Given the description of an element on the screen output the (x, y) to click on. 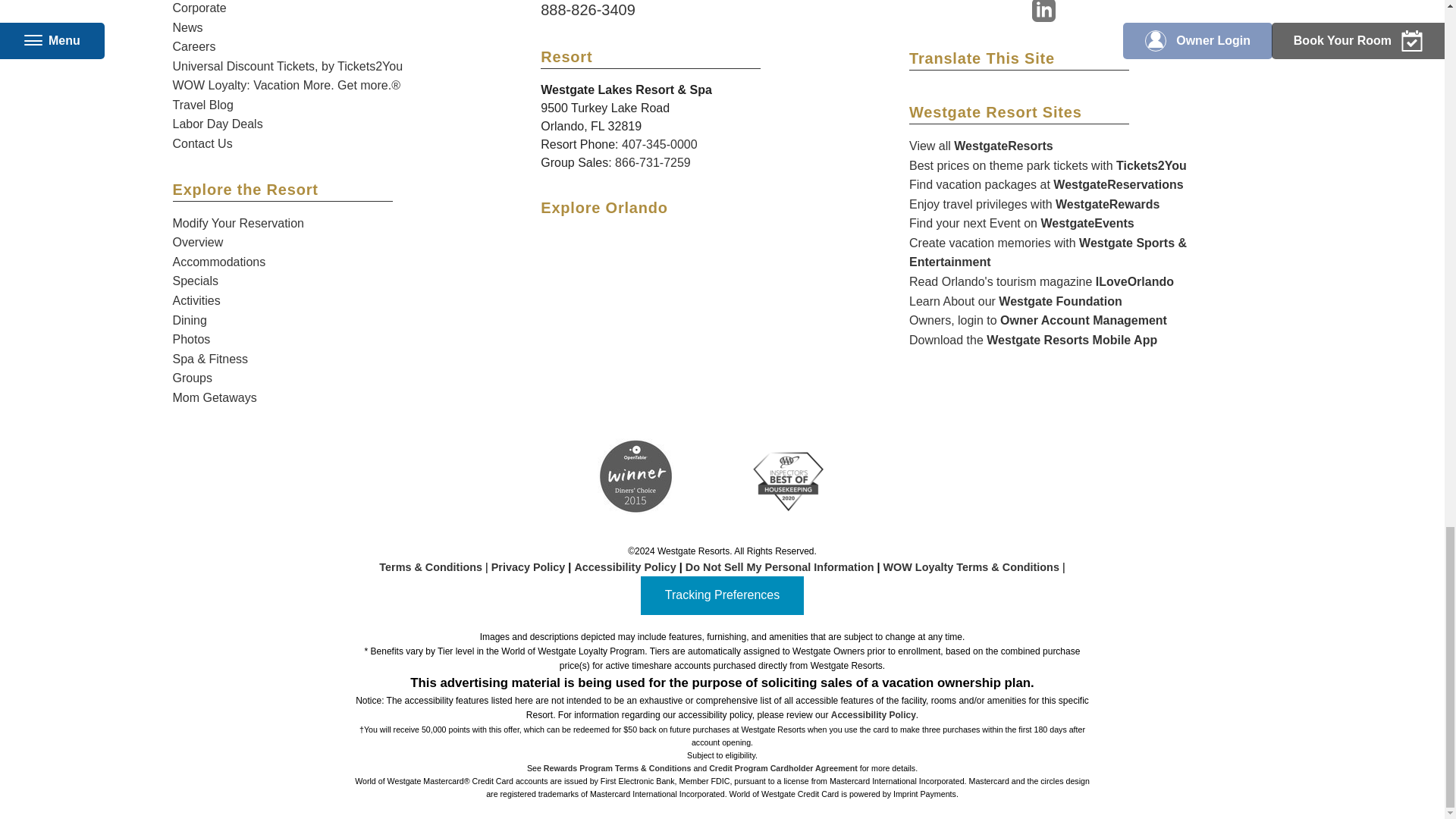
Careers (194, 46)
News (188, 27)
Corporate (200, 7)
